Given the description of an element on the screen output the (x, y) to click on. 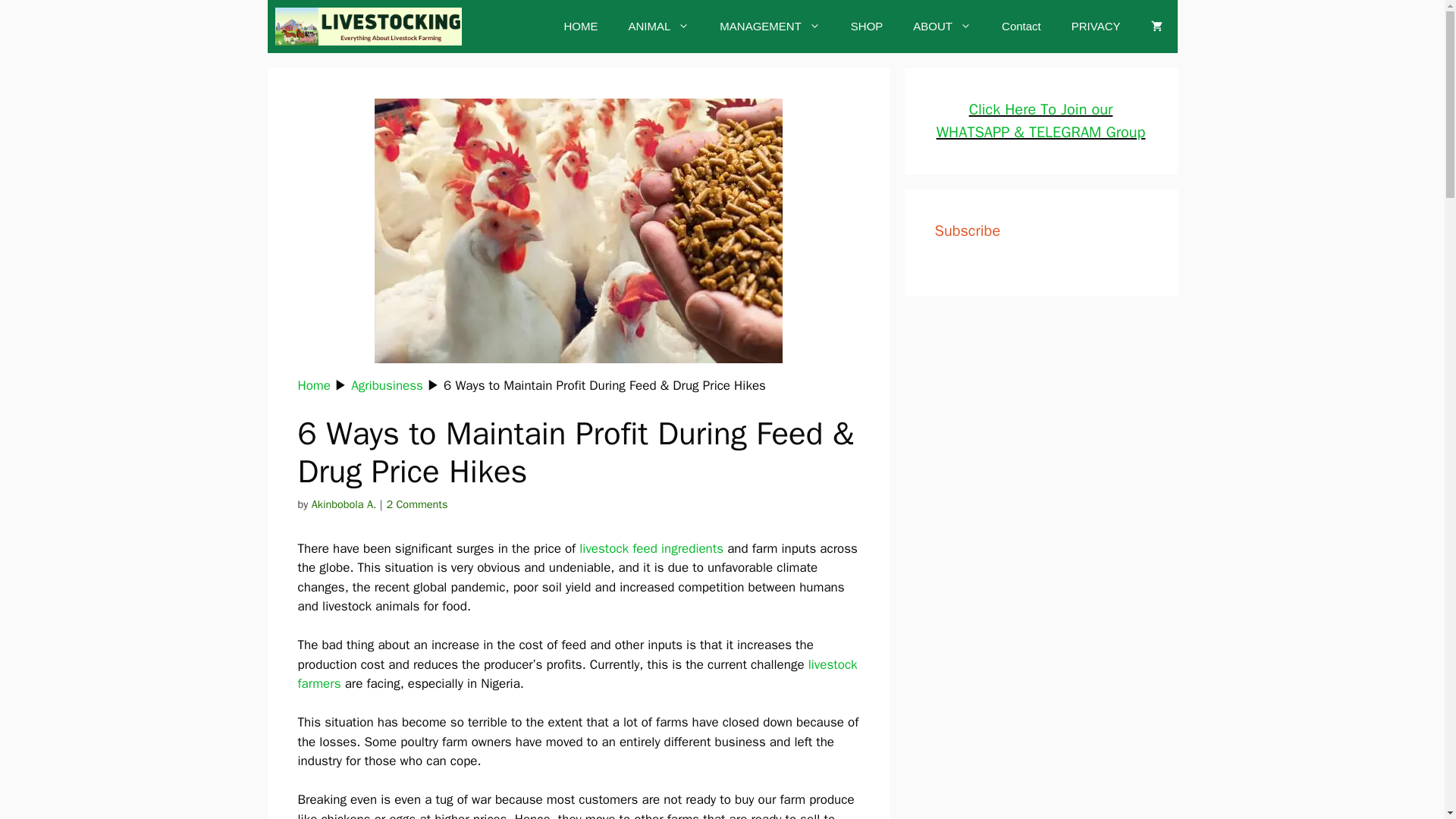
Contact (1022, 26)
Livestocking (368, 26)
Home (313, 385)
Agribusiness (386, 385)
MANAGEMENT (769, 26)
View your shopping cart (1156, 26)
PRIVACY (1096, 26)
HOME (580, 26)
2 Comments (415, 504)
ANIMAL (658, 26)
